Given the description of an element on the screen output the (x, y) to click on. 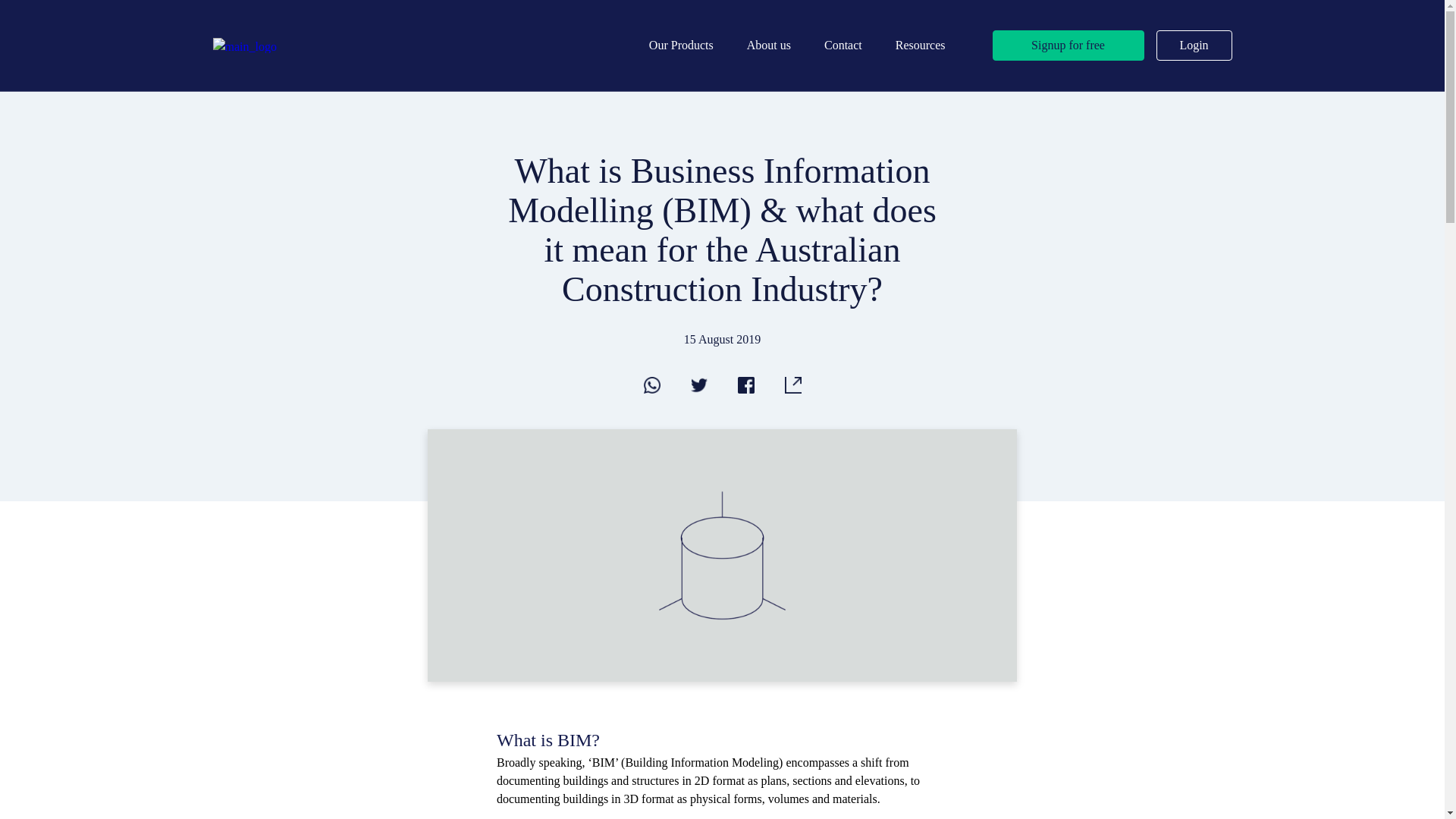
Share on Facebook. (745, 389)
About us (769, 45)
Tweet this! (698, 389)
Contact (843, 45)
Signup for free (1067, 45)
Our Products (681, 45)
Resources (920, 45)
Login (1194, 45)
